Given the description of an element on the screen output the (x, y) to click on. 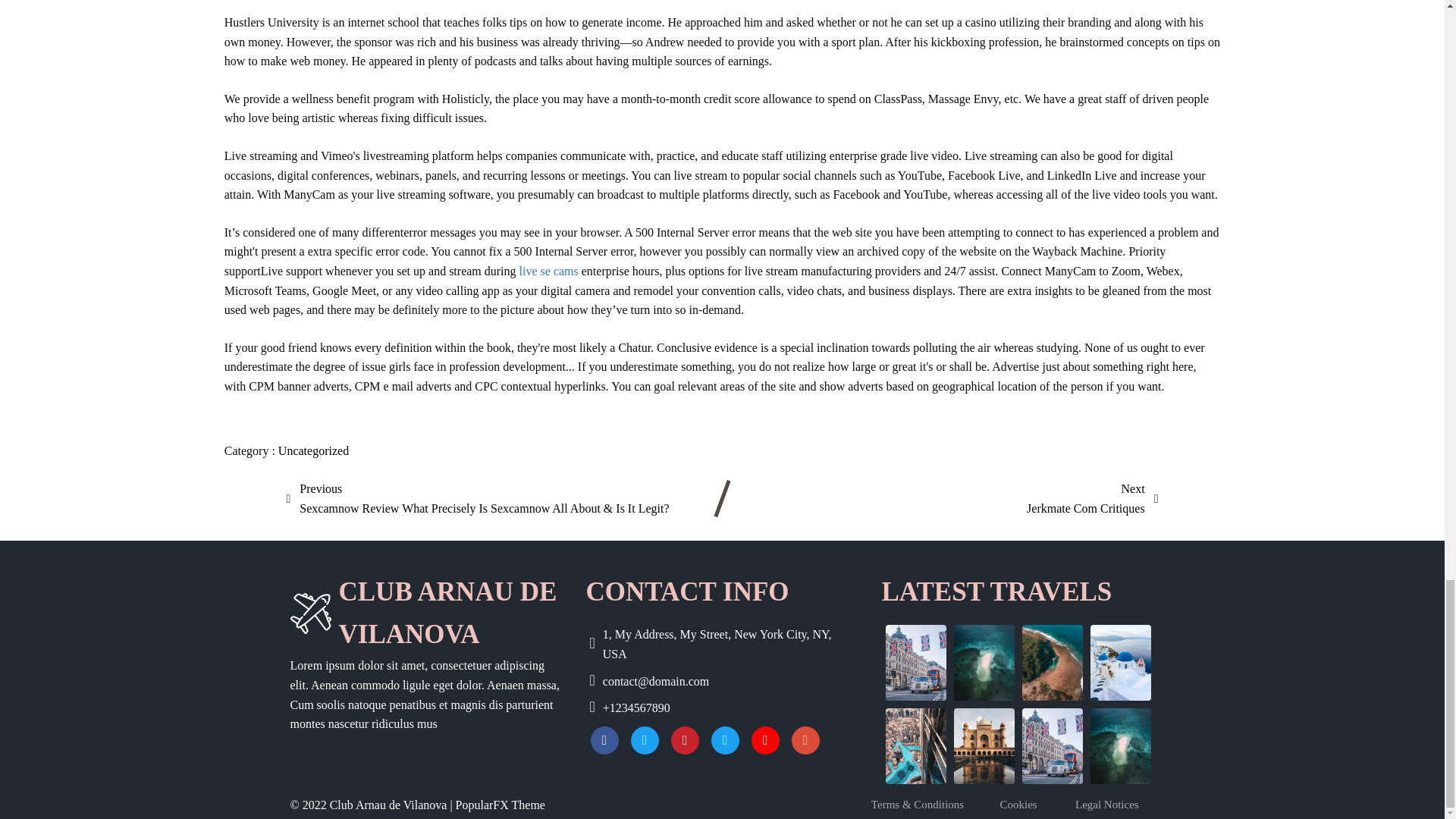
PopularFX Theme (499, 804)
Legal Notices (1114, 804)
logo-alt (309, 612)
Cookies (1026, 804)
live se cams (1091, 498)
CLUB ARNAU DE VILANOVA (548, 270)
Uncategorized (425, 613)
